Given the description of an element on the screen output the (x, y) to click on. 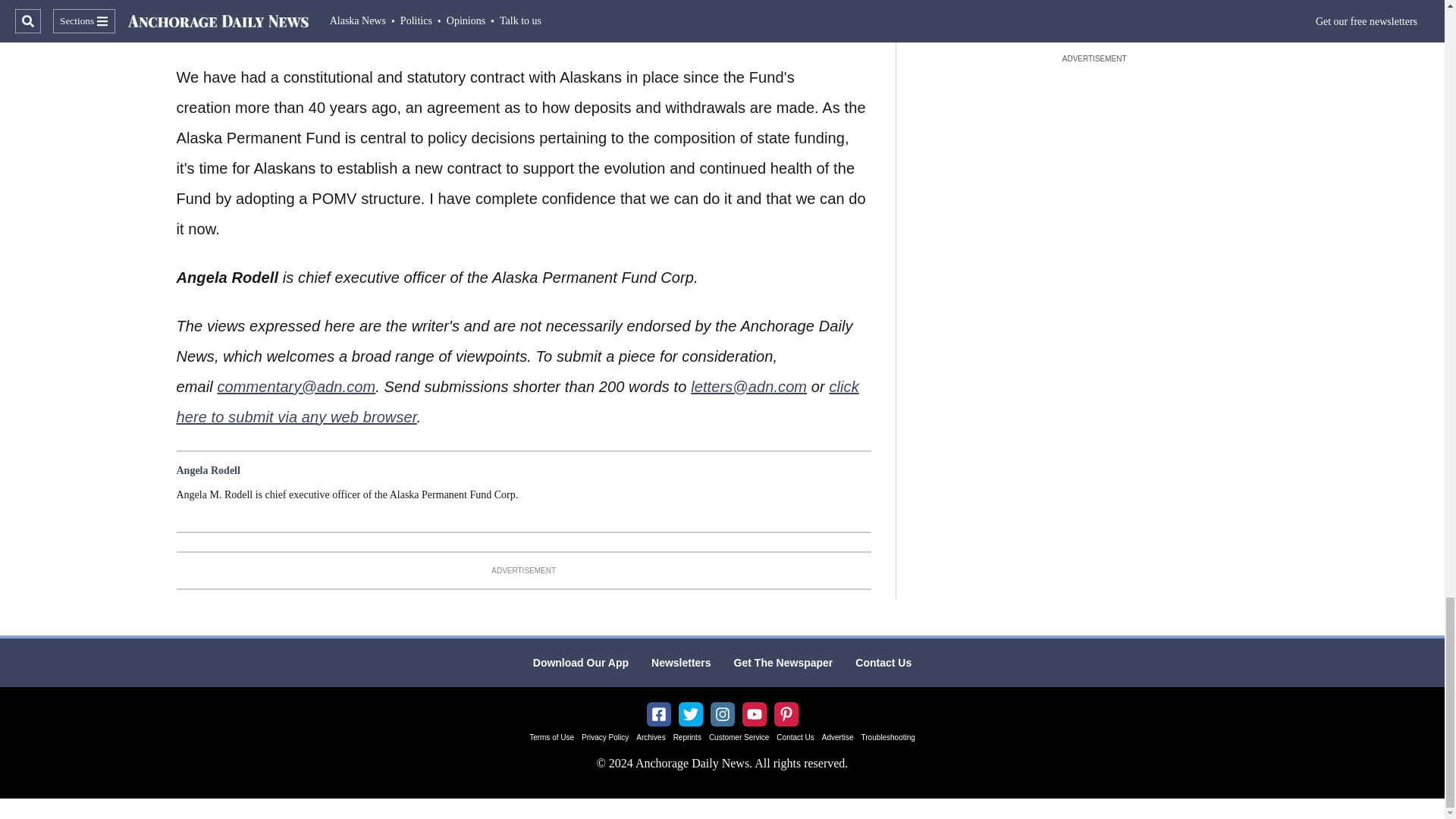
Facebook IconAnchorage Daily News Facebook Page (657, 713)
YouTube iconAnchorage Daily News YouTube channel (753, 713)
Twitter IconTwitter Account for Anchorage Daily News (689, 713)
PinterestAnchorage Daily News Pinterest Account (785, 713)
Instagram IconAnchorage Daily News instagram account (721, 713)
